Given the description of an element on the screen output the (x, y) to click on. 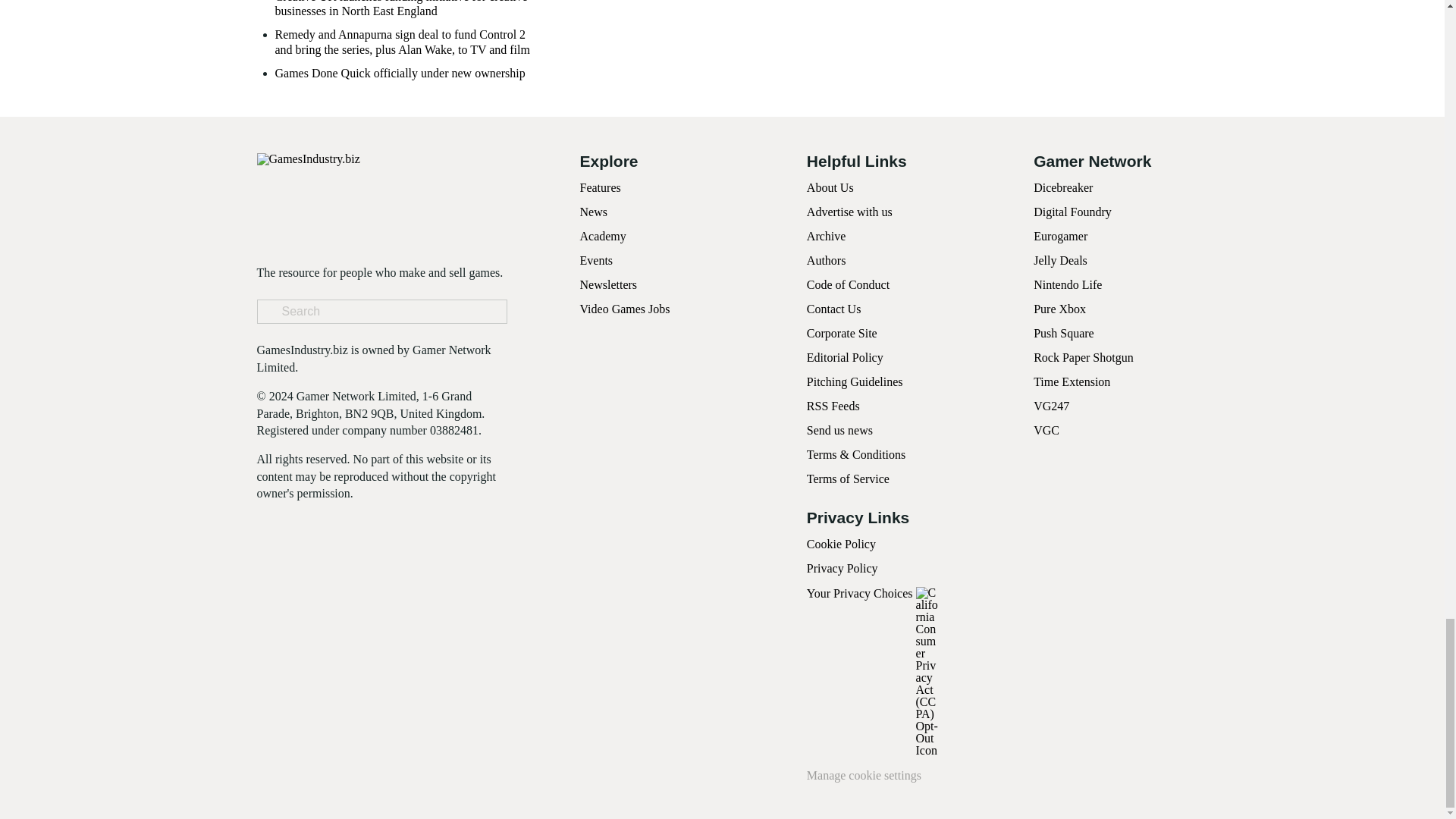
Events (595, 259)
Video Games Jobs (624, 308)
Newsletters (608, 284)
About Us (829, 187)
News (593, 211)
Academy (602, 236)
Features (599, 187)
